Given the description of an element on the screen output the (x, y) to click on. 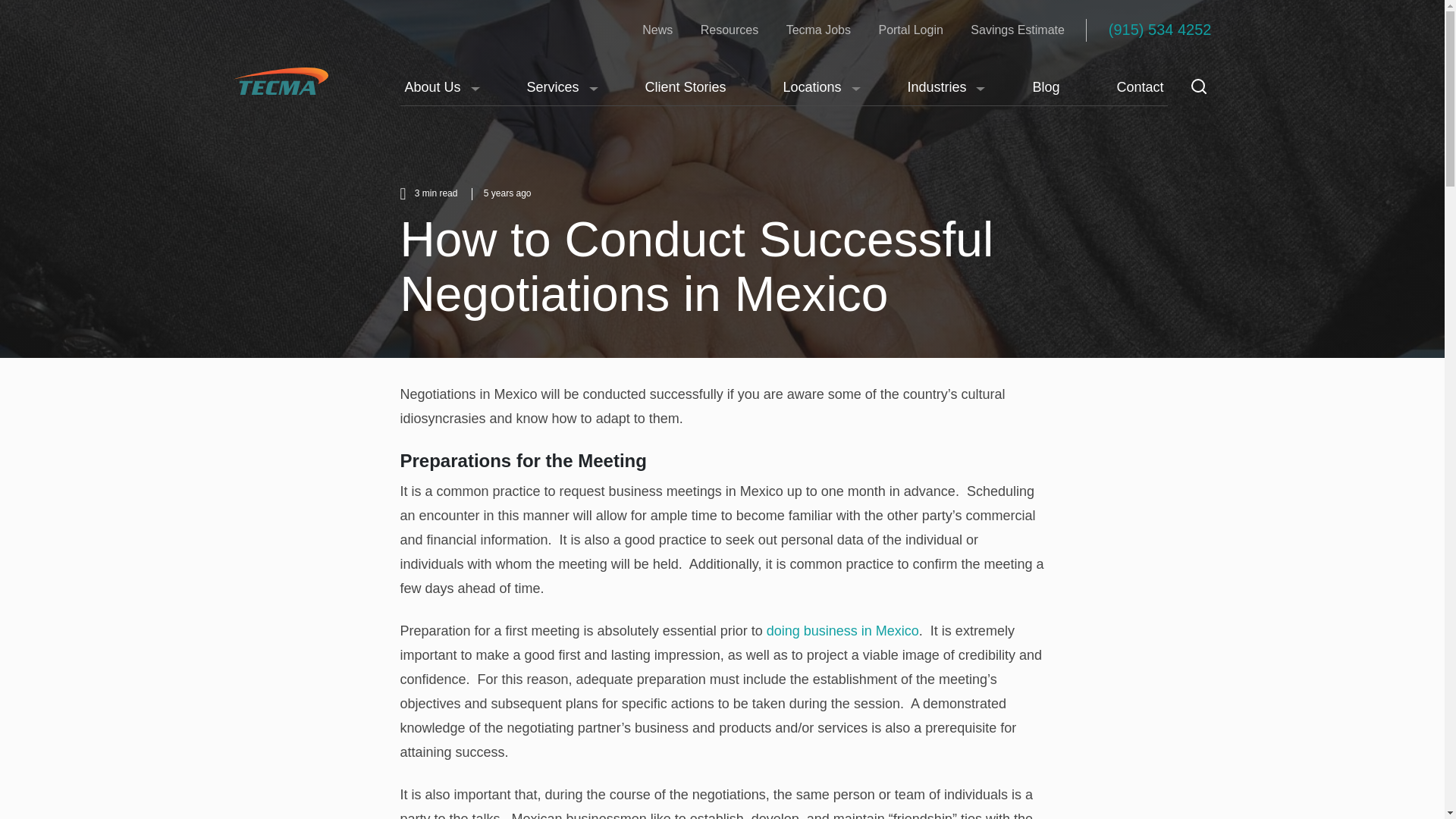
Services (556, 87)
Savings Estimate (1017, 29)
Tecma Jobs (818, 29)
About Us (437, 87)
Portal Login (909, 29)
News (657, 29)
Resources (729, 29)
